Given the description of an element on the screen output the (x, y) to click on. 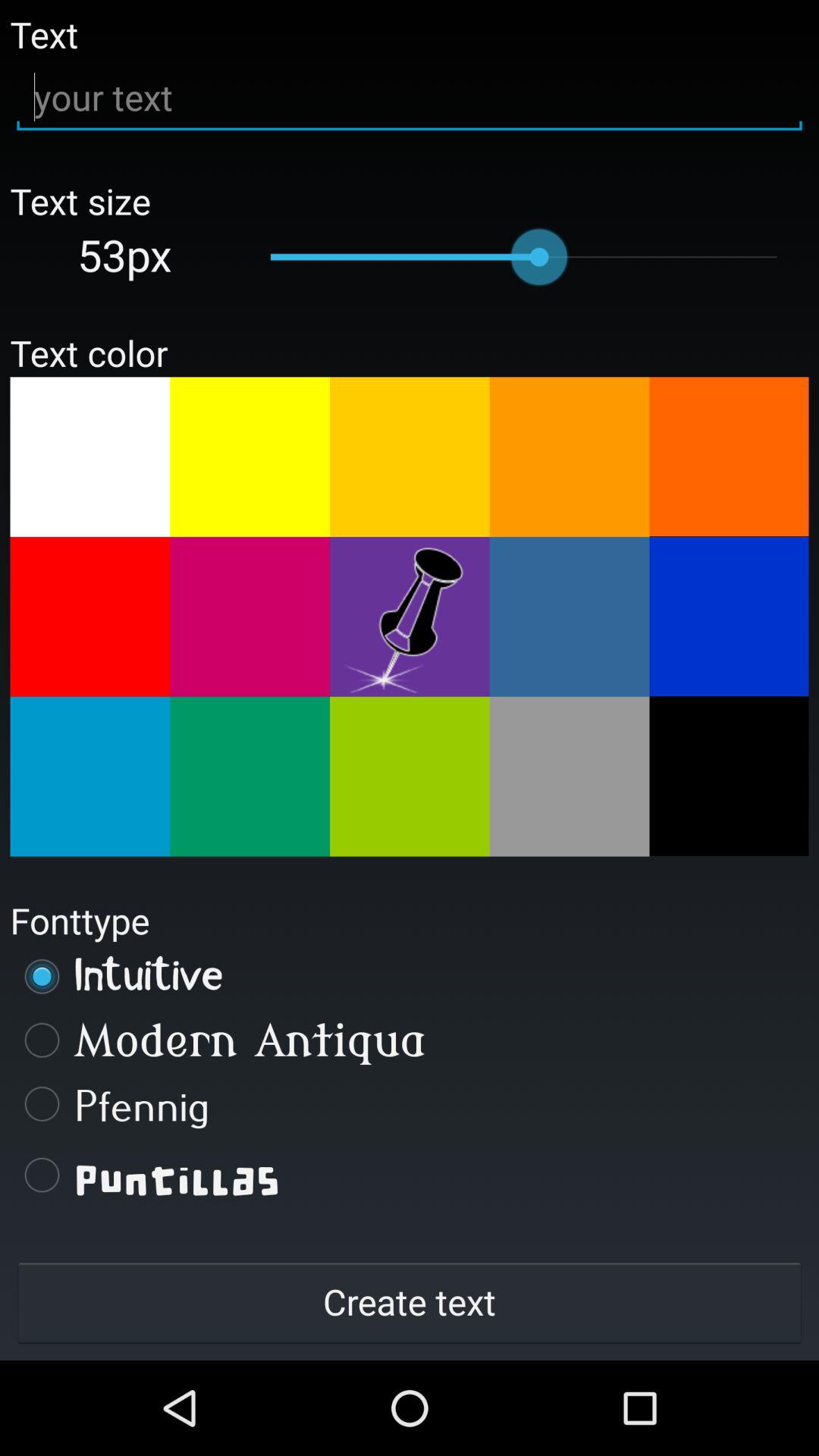
tap create text button (409, 1301)
